Given the description of an element on the screen output the (x, y) to click on. 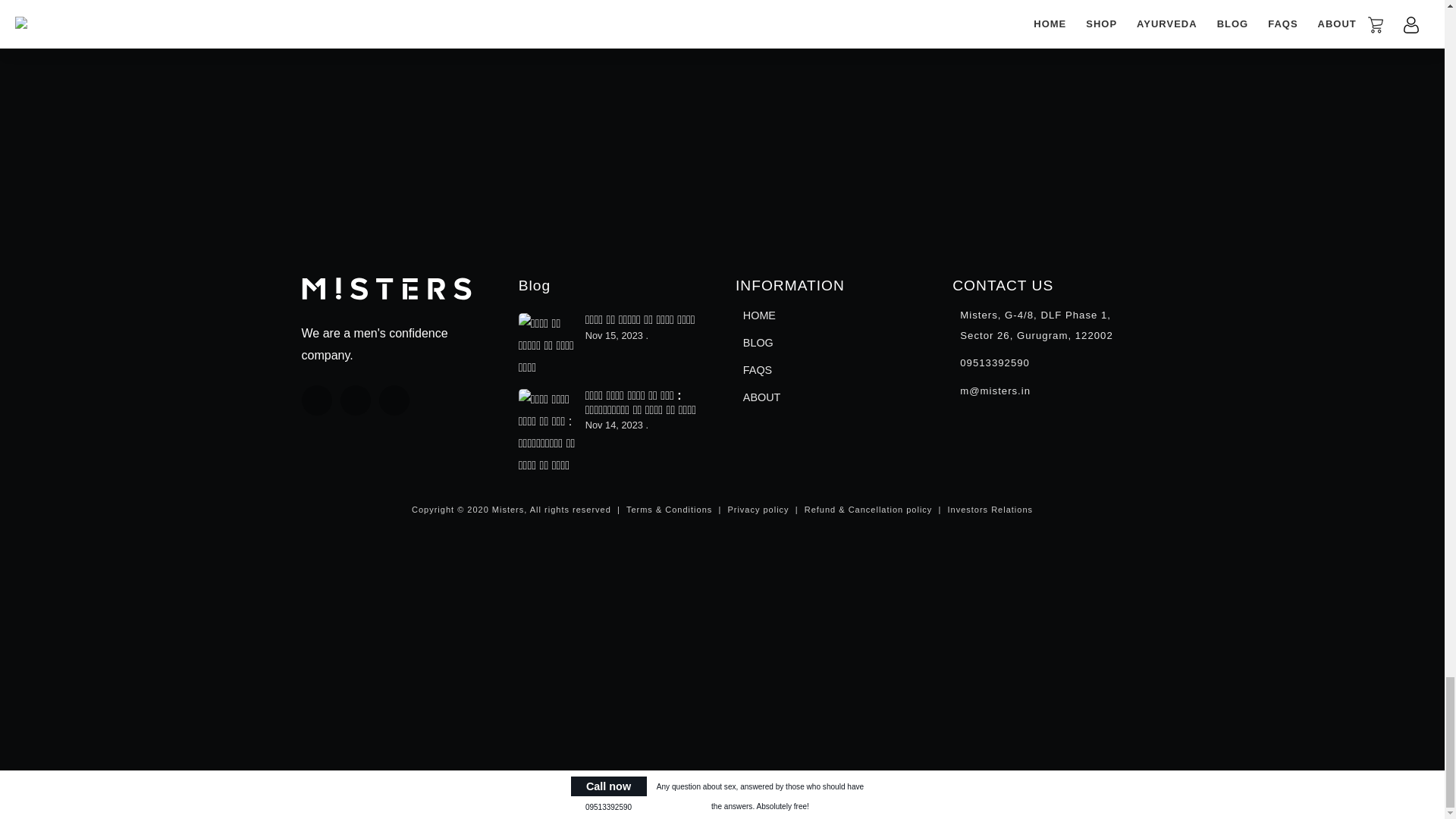
linkedin (355, 399)
HOME (758, 315)
Blog (534, 285)
facebook (316, 399)
BLOG (758, 342)
FAQS (757, 370)
instagram (393, 399)
ABOUT (761, 397)
